Given the description of an element on the screen output the (x, y) to click on. 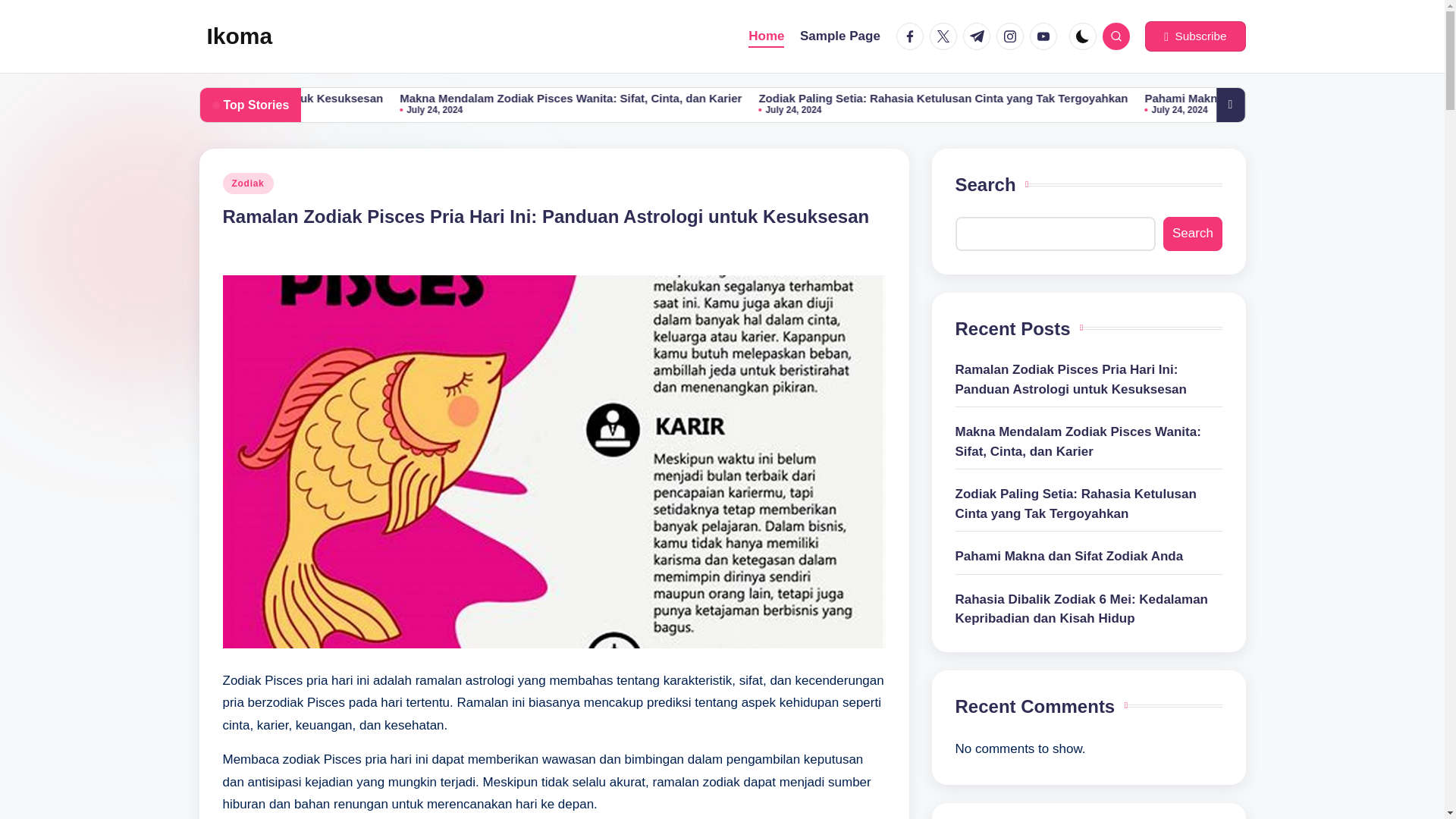
facebook.com (913, 35)
twitter.com (946, 35)
instagram.com (1012, 35)
Sample Page (839, 36)
Home (766, 36)
Ikoma (239, 36)
Subscribe (1194, 36)
youtube.com (1045, 35)
t.me (978, 35)
